Given the description of an element on the screen output the (x, y) to click on. 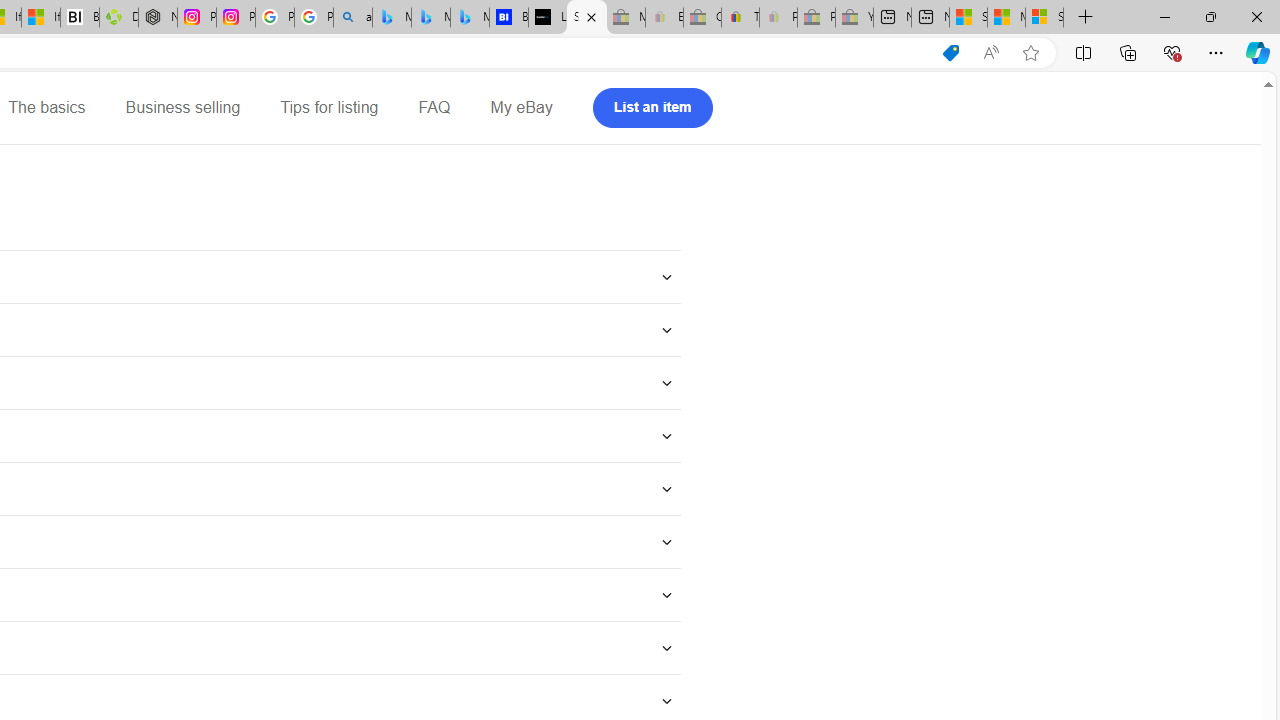
Threats and offensive language policy | eBay (740, 17)
FAQ (434, 107)
Nordace - Nordace Edin Collection (157, 17)
Shanghai, China hourly forecast | Microsoft Weather (967, 17)
List an item (651, 107)
Tips for listing (329, 107)
Business selling (182, 107)
